Given the description of an element on the screen output the (x, y) to click on. 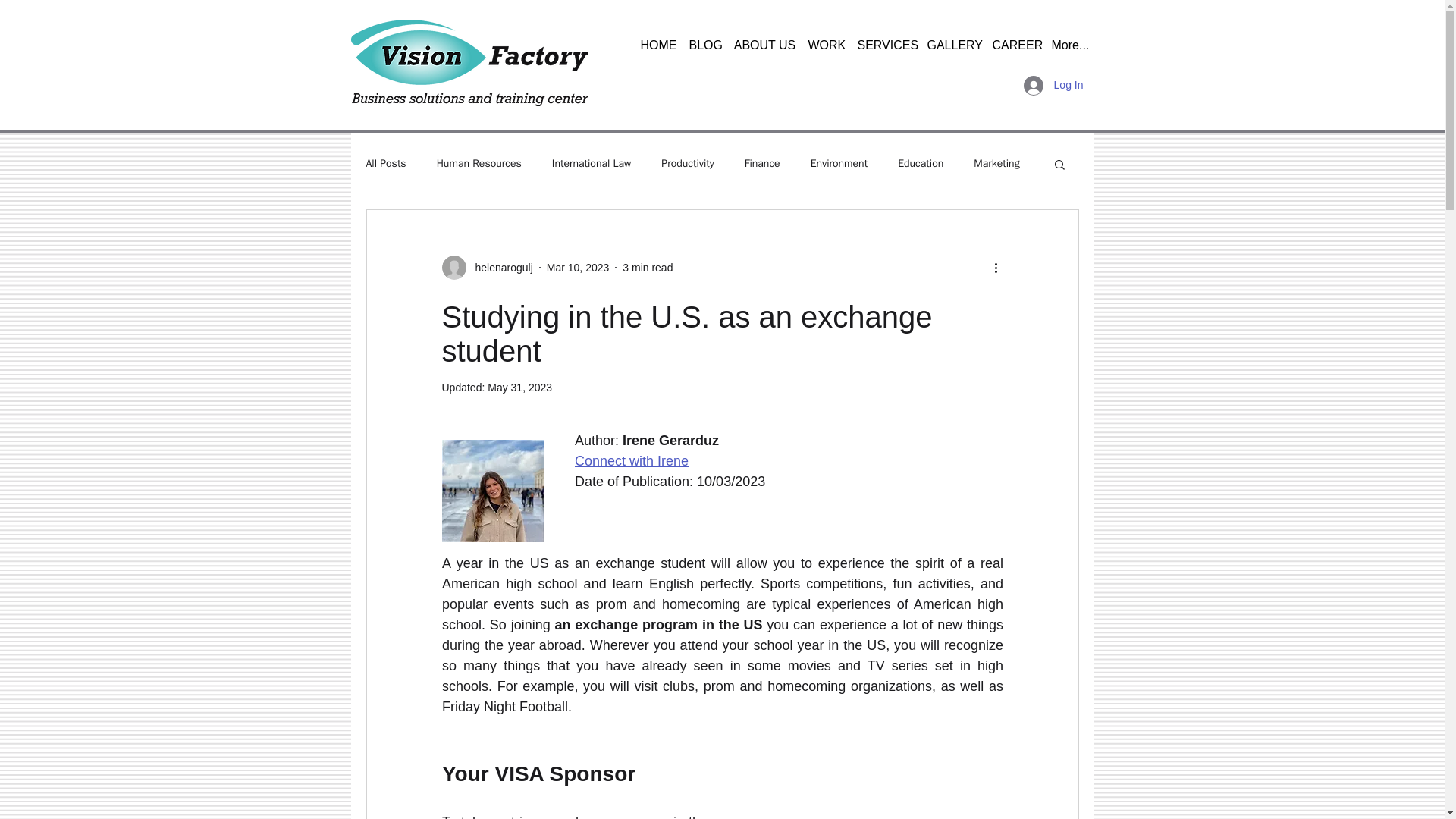
HOME (657, 38)
Mar 10, 2023 (578, 266)
WORK (826, 38)
helenarogulj (498, 267)
CAREER (1015, 38)
SERVICES (885, 38)
ABOUT US (765, 38)
3 min read (647, 266)
May 31, 2023 (519, 387)
BLOG (704, 38)
GALLERY (952, 38)
